Given the description of an element on the screen output the (x, y) to click on. 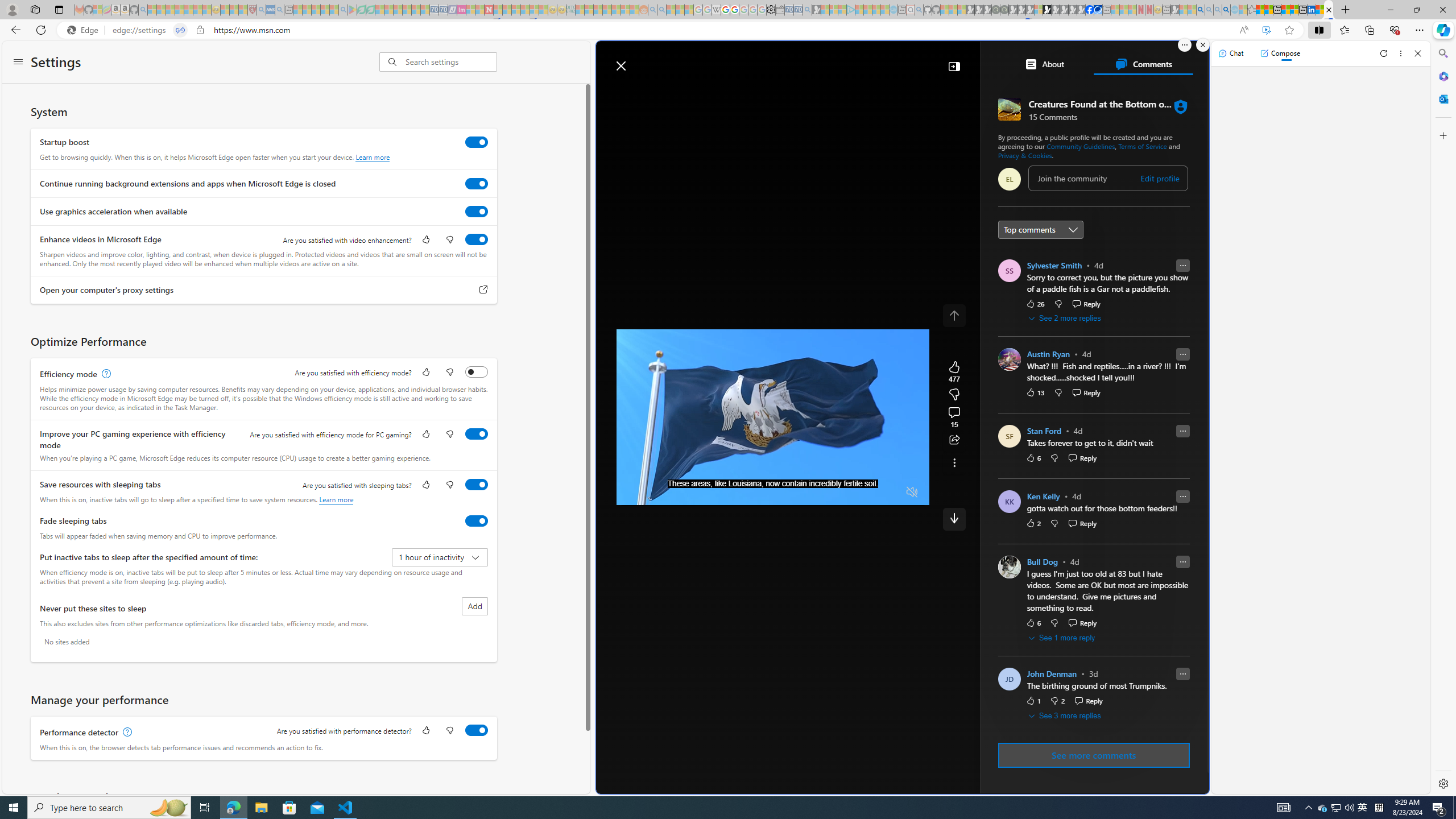
More options. (1183, 45)
See 3 more replies (1065, 715)
Seek Forward (679, 492)
Sign in to your account - Sleeping (1038, 9)
Class: control (954, 518)
Reply Reply Comment (1088, 700)
